Given the description of an element on the screen output the (x, y) to click on. 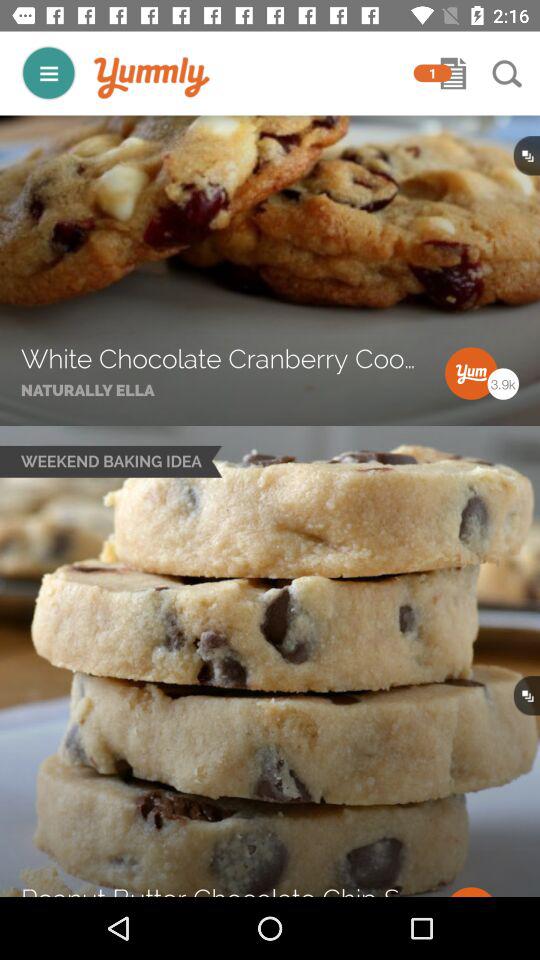
text right right to menu icon (152, 77)
click on black button in first image (527, 155)
